Given the description of an element on the screen output the (x, y) to click on. 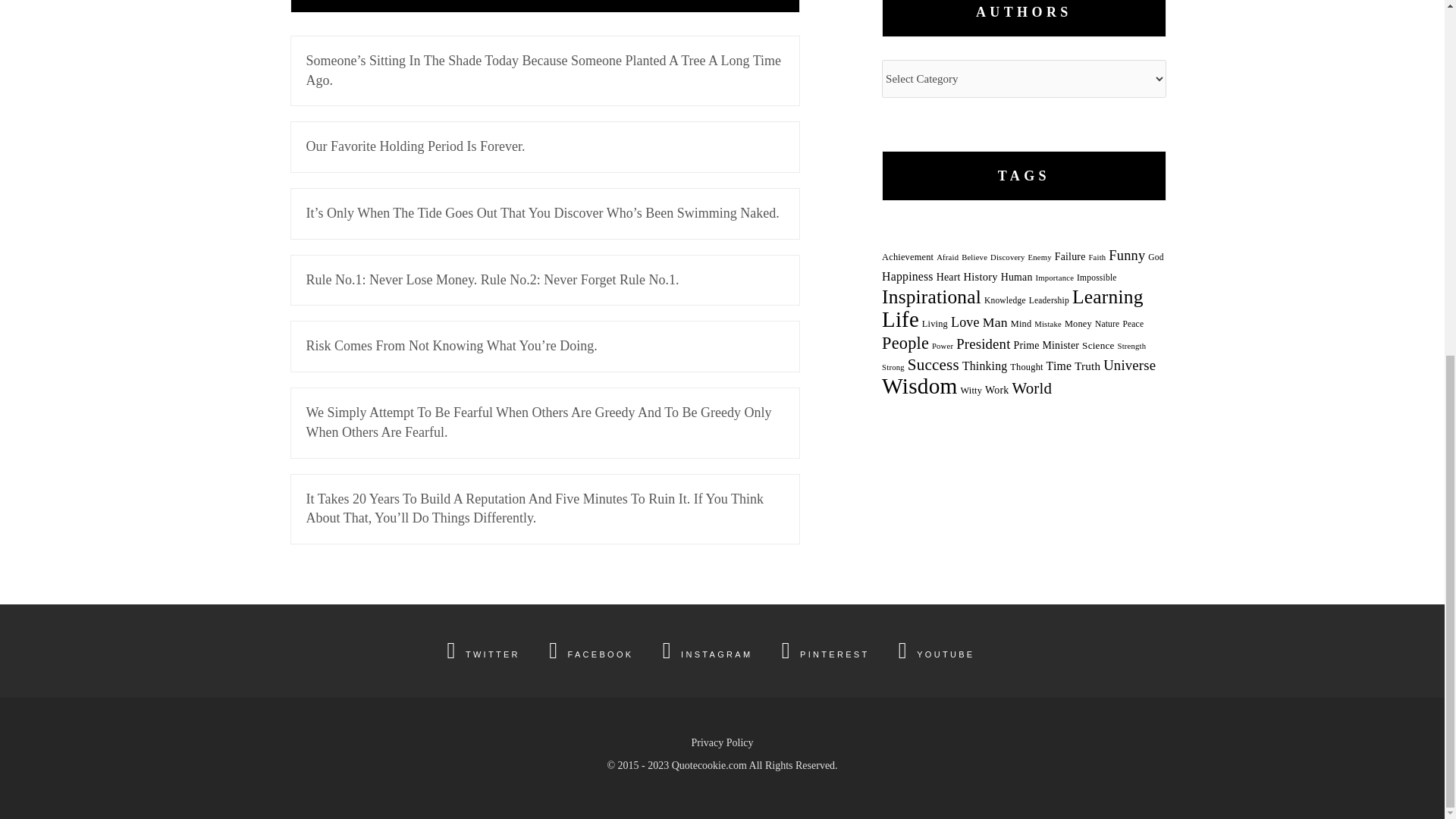
Our Favorite Holding Period Is Forever. (544, 146)
